Given the description of an element on the screen output the (x, y) to click on. 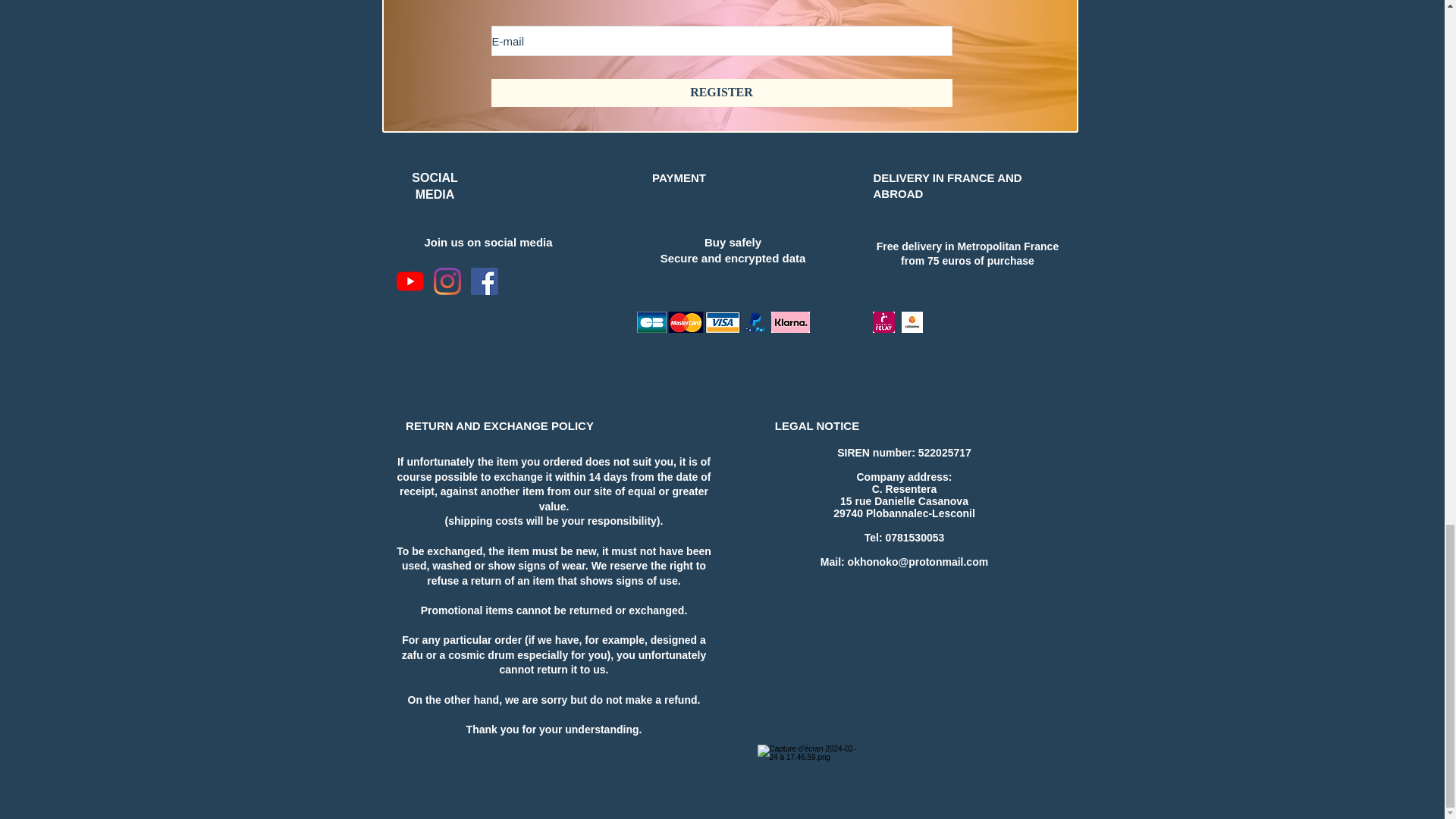
REGISTER (722, 92)
